Given the description of an element on the screen output the (x, y) to click on. 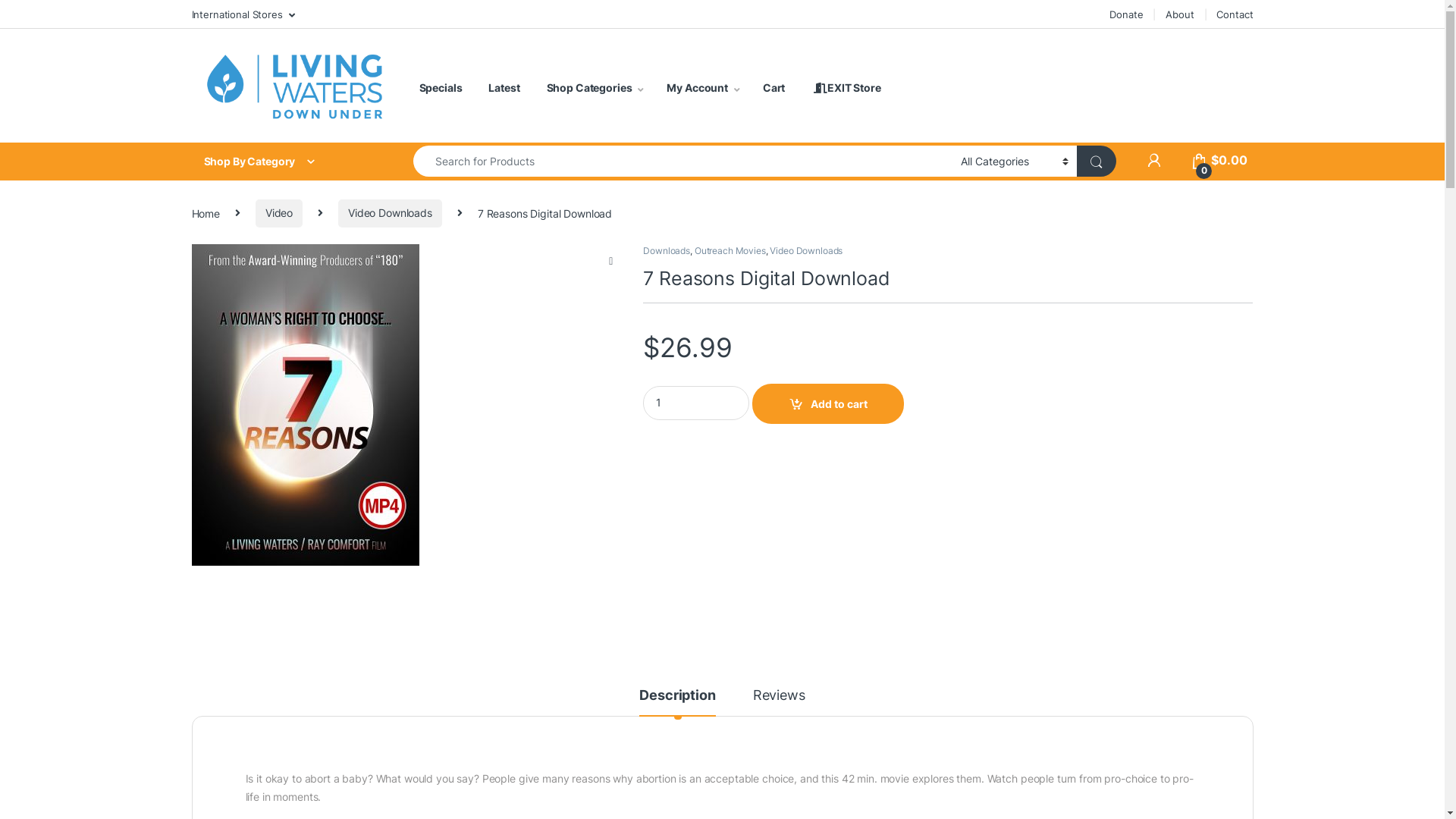
Shop Categories Element type: text (595, 87)
0
$0.00 Element type: text (1218, 160)
Video Downloads Element type: text (805, 250)
Reviews Element type: text (779, 701)
Home Element type: text (205, 212)
About Element type: text (1179, 14)
Video Downloads Element type: text (390, 213)
Latest Element type: text (503, 87)
Description Element type: text (677, 701)
Shop By Category Element type: text (287, 161)
 EXIT Store Element type: text (845, 87)
Outreach Movies Element type: text (729, 250)
download-7-reasons-mi619 Element type: hover (304, 404)
International Stores Element type: text (242, 14)
Contact Element type: text (1234, 14)
Qty Element type: hover (696, 402)
Video Element type: text (278, 213)
Downloads Element type: text (666, 250)
Specials Element type: text (439, 87)
Cart Element type: text (773, 87)
Add to cart Element type: text (827, 403)
My Account Element type: text (702, 87)
Donate Element type: text (1125, 14)
